Given the description of an element on the screen output the (x, y) to click on. 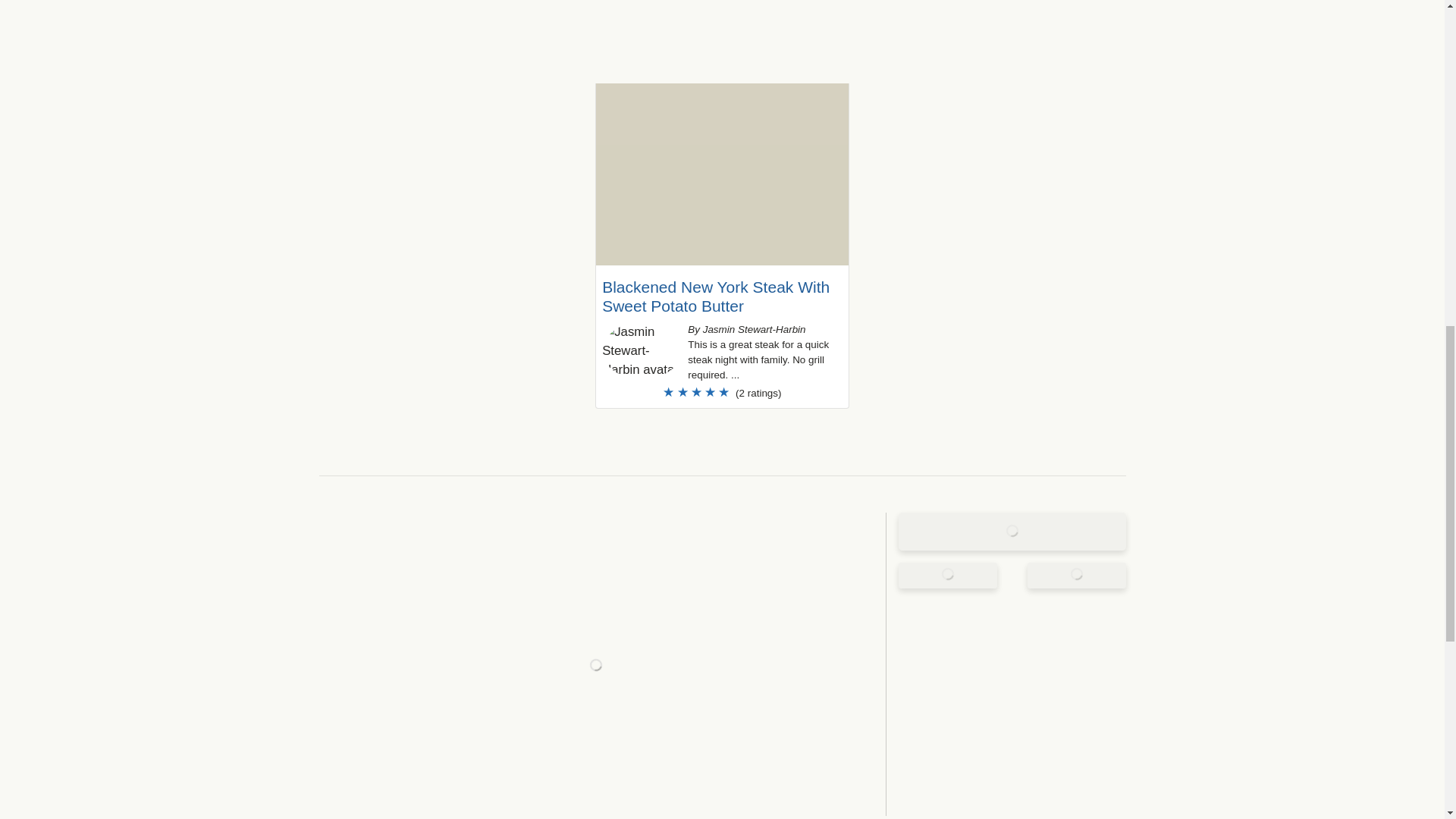
5 (721, 391)
Jasmin Stewart-Harbin (641, 351)
Blackened New York Steak With Sweet Potato Butter (715, 296)
